Given the description of an element on the screen output the (x, y) to click on. 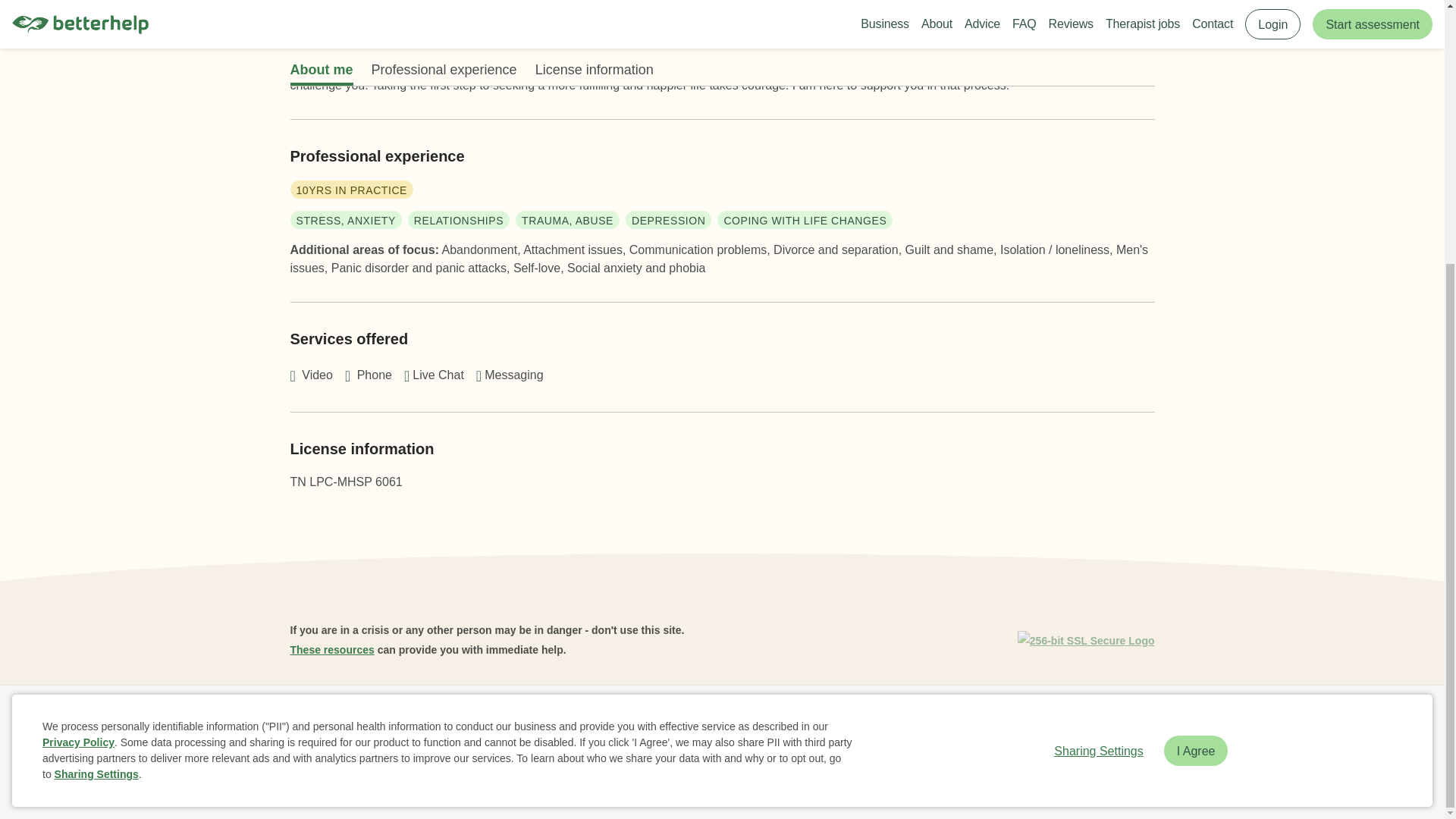
Reviews (510, 721)
Find a Therapist (692, 721)
I Agree (1195, 370)
Contact (857, 721)
FAQ (462, 721)
Business (365, 721)
Advice (564, 721)
Careers (618, 721)
Privacy Policy (78, 362)
These resources (331, 649)
For Therapists (928, 721)
Sharing Settings (1098, 370)
Home (311, 721)
Online Therapy (784, 721)
About (419, 721)
